Given the description of an element on the screen output the (x, y) to click on. 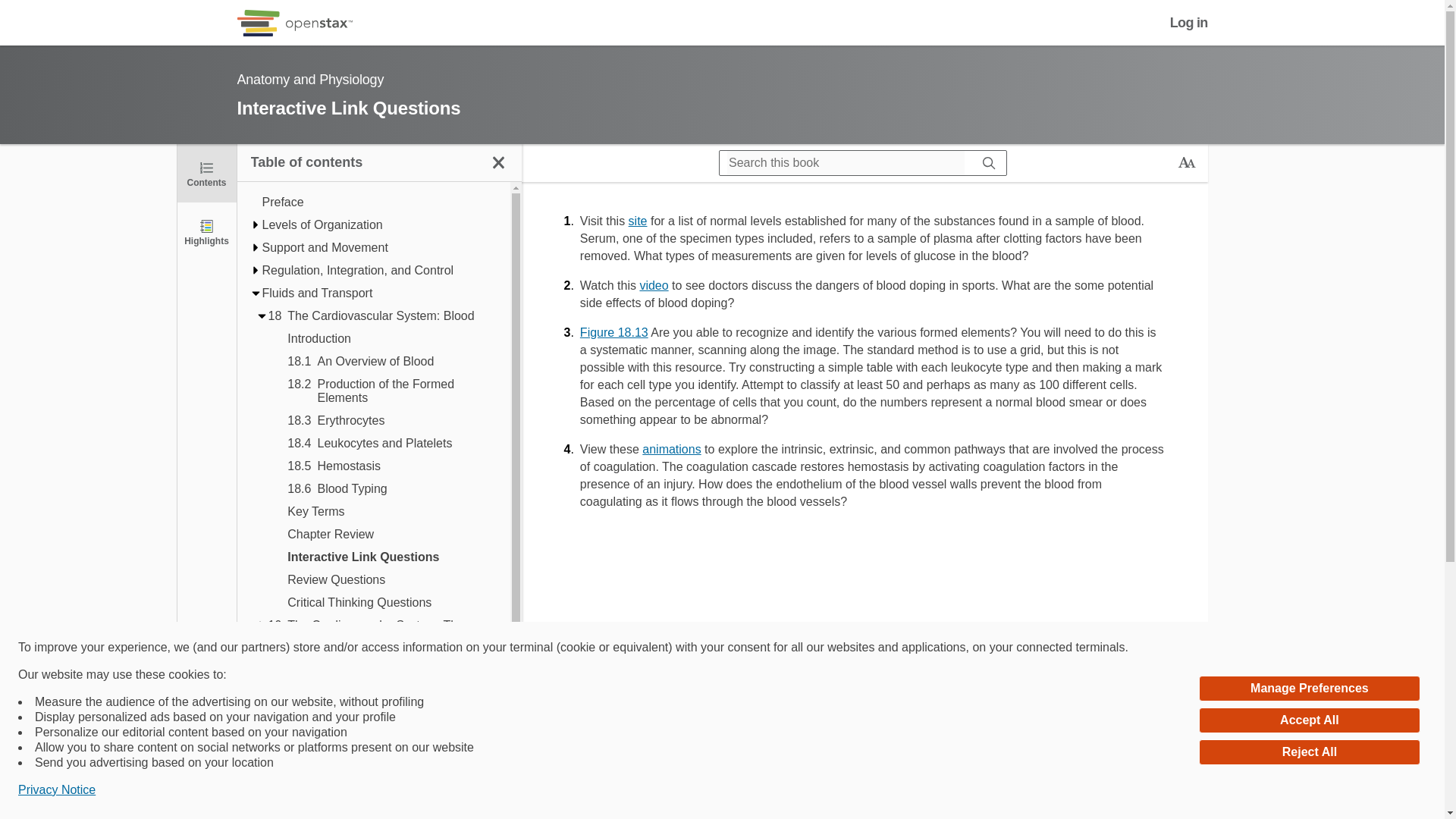
Search (16, 12)
Preface (379, 202)
Reject All (1309, 751)
Manage Preferences (1309, 688)
Contents (206, 173)
Privacy Notice (56, 789)
Search (989, 162)
Log in (1189, 22)
Highlights (206, 231)
